Given the description of an element on the screen output the (x, y) to click on. 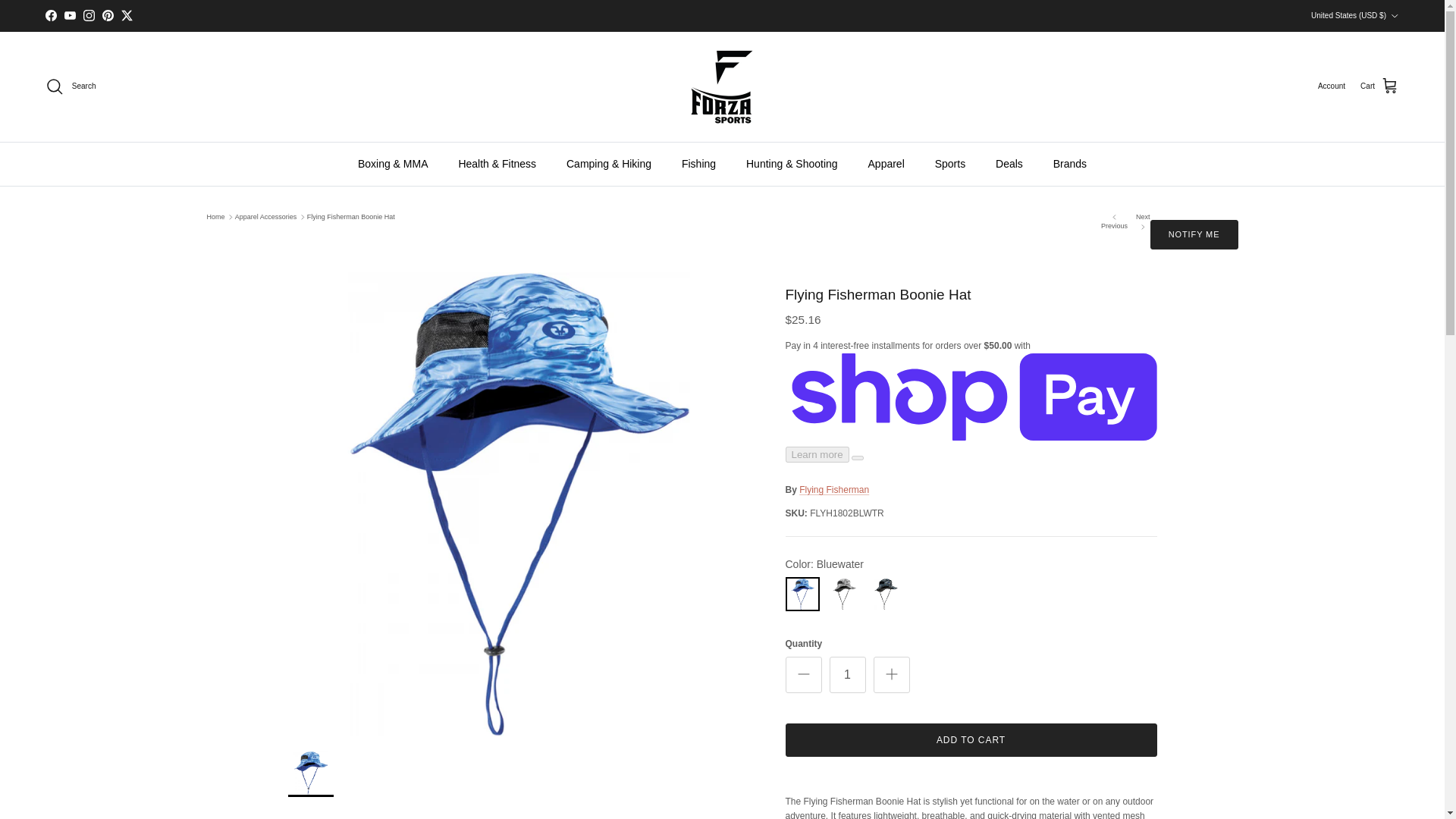
Forza Sports on YouTube (69, 15)
Forza Sports (721, 86)
Instagram (88, 15)
Cart (1379, 86)
Facebook (50, 15)
Forza Sports on Facebook (50, 15)
Twitter (126, 15)
YouTube (69, 15)
Forza Sports on Twitter (126, 15)
Forza Sports on Instagram (88, 15)
1 (847, 674)
Forza Sports on Pinterest (107, 15)
Account (1331, 86)
Pinterest (107, 15)
Search (70, 85)
